Given the description of an element on the screen output the (x, y) to click on. 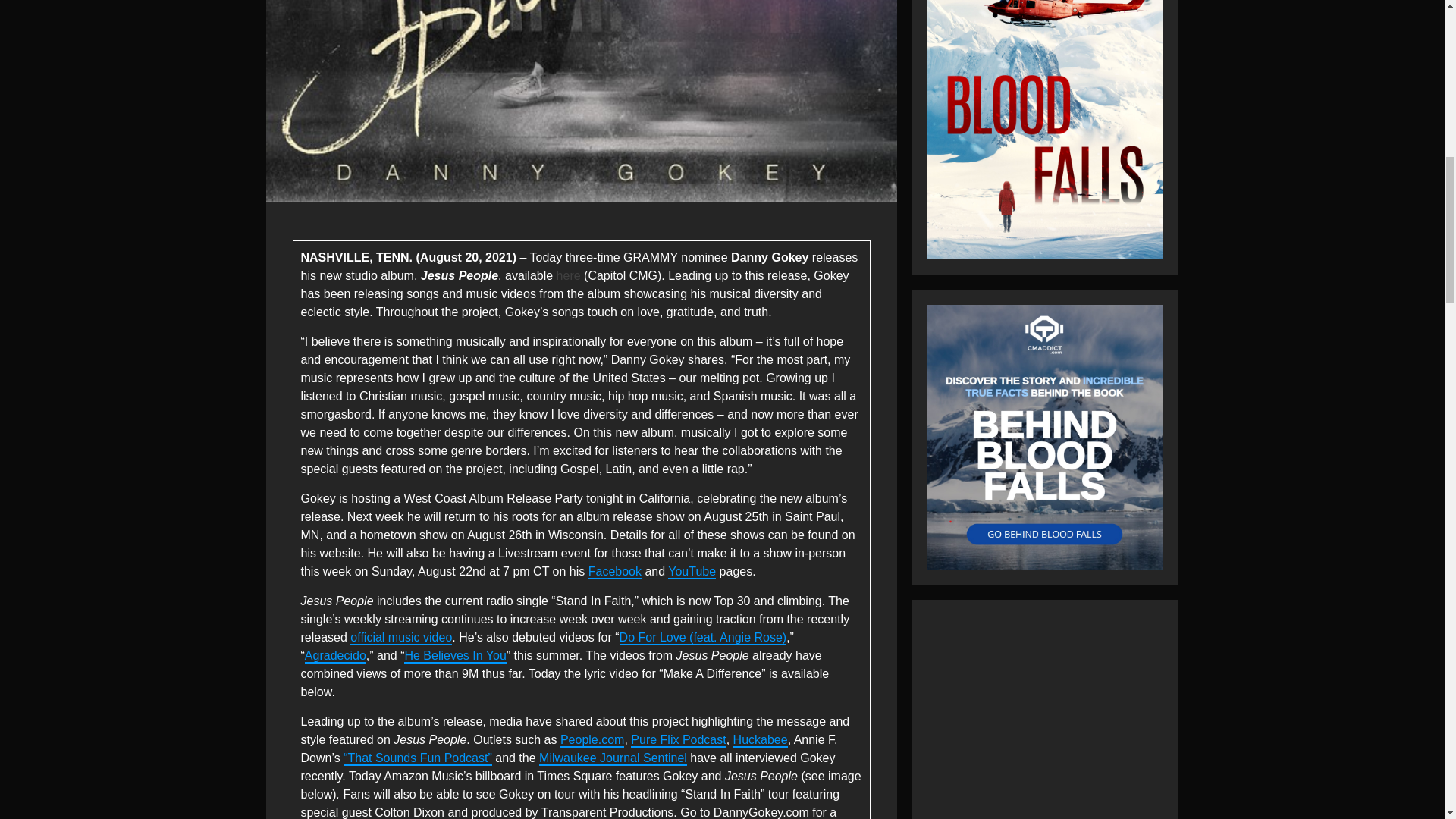
Spotify Embed: Coffee Break  (1045, 717)
